Given the description of an element on the screen output the (x, y) to click on. 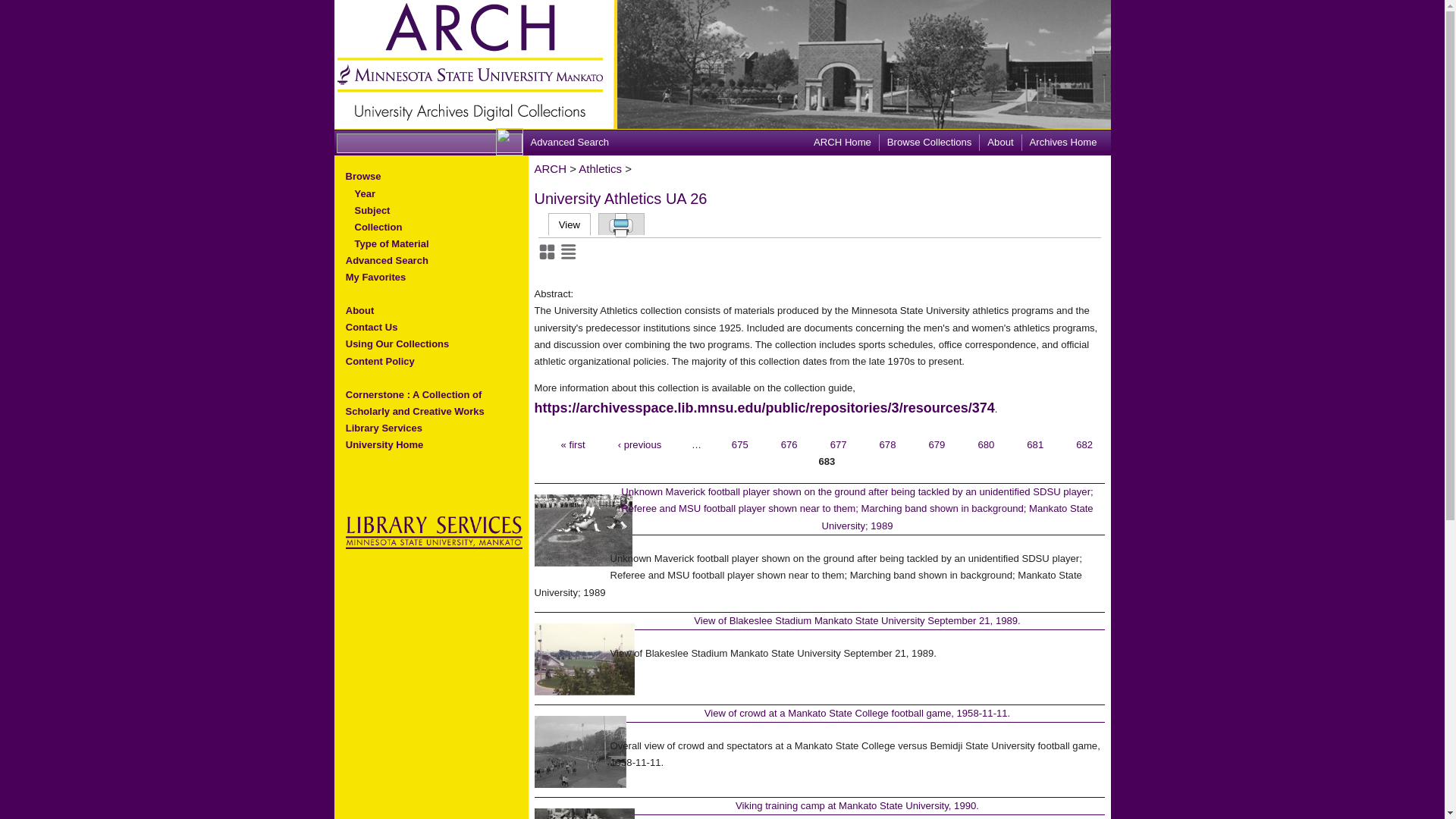
Advanced Search (386, 260)
My Favorites (374, 276)
Go to previous page (638, 444)
Type of Material (386, 242)
University Home (383, 444)
Archives Home (1063, 141)
Go to page 680 (985, 444)
Search (22, 11)
Browse Collections (928, 141)
About (358, 310)
ARCH (550, 168)
Advanced Search (570, 142)
Go to page 679 (936, 444)
